Given the description of an element on the screen output the (x, y) to click on. 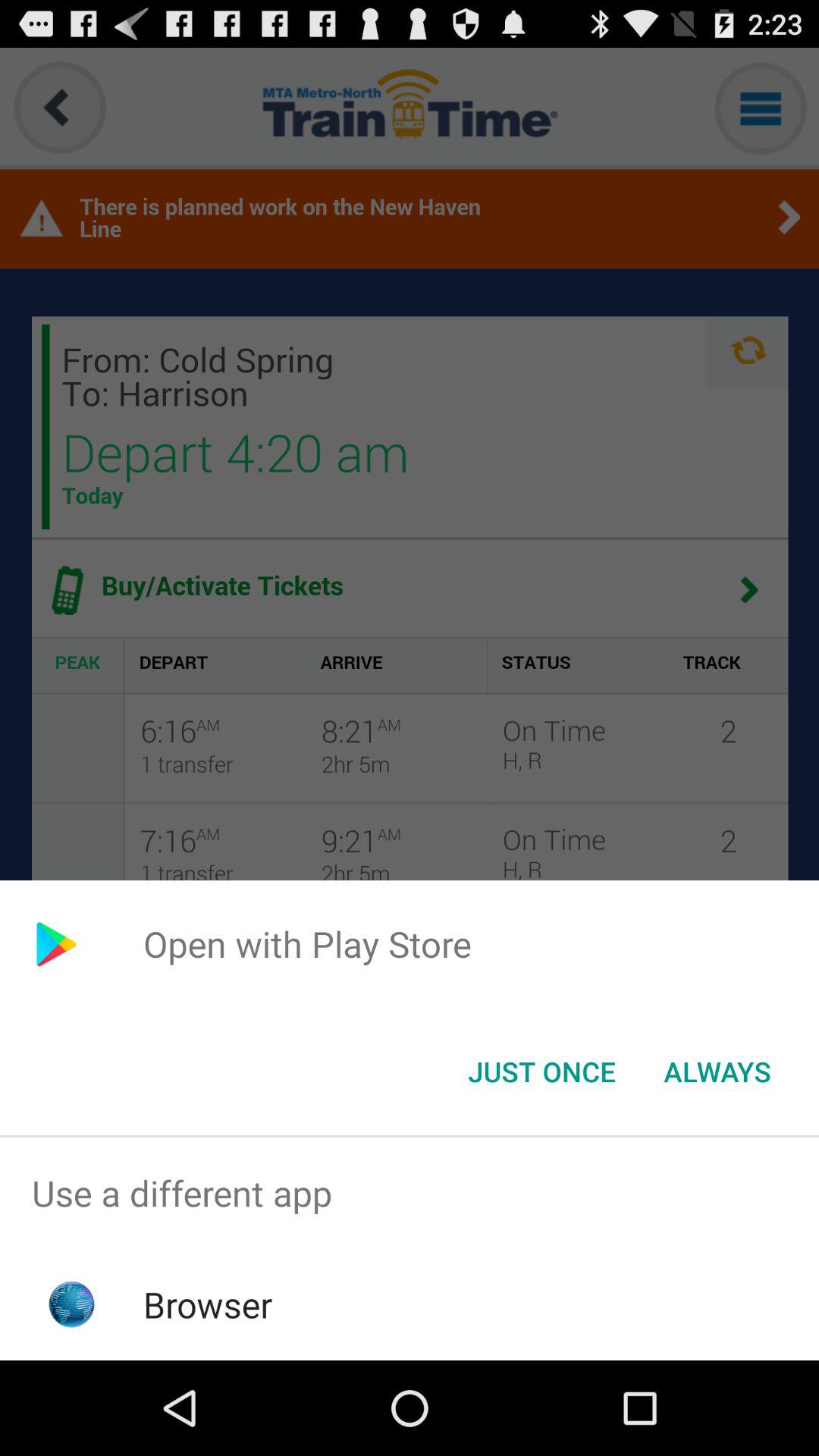
launch item above the browser icon (409, 1192)
